Given the description of an element on the screen output the (x, y) to click on. 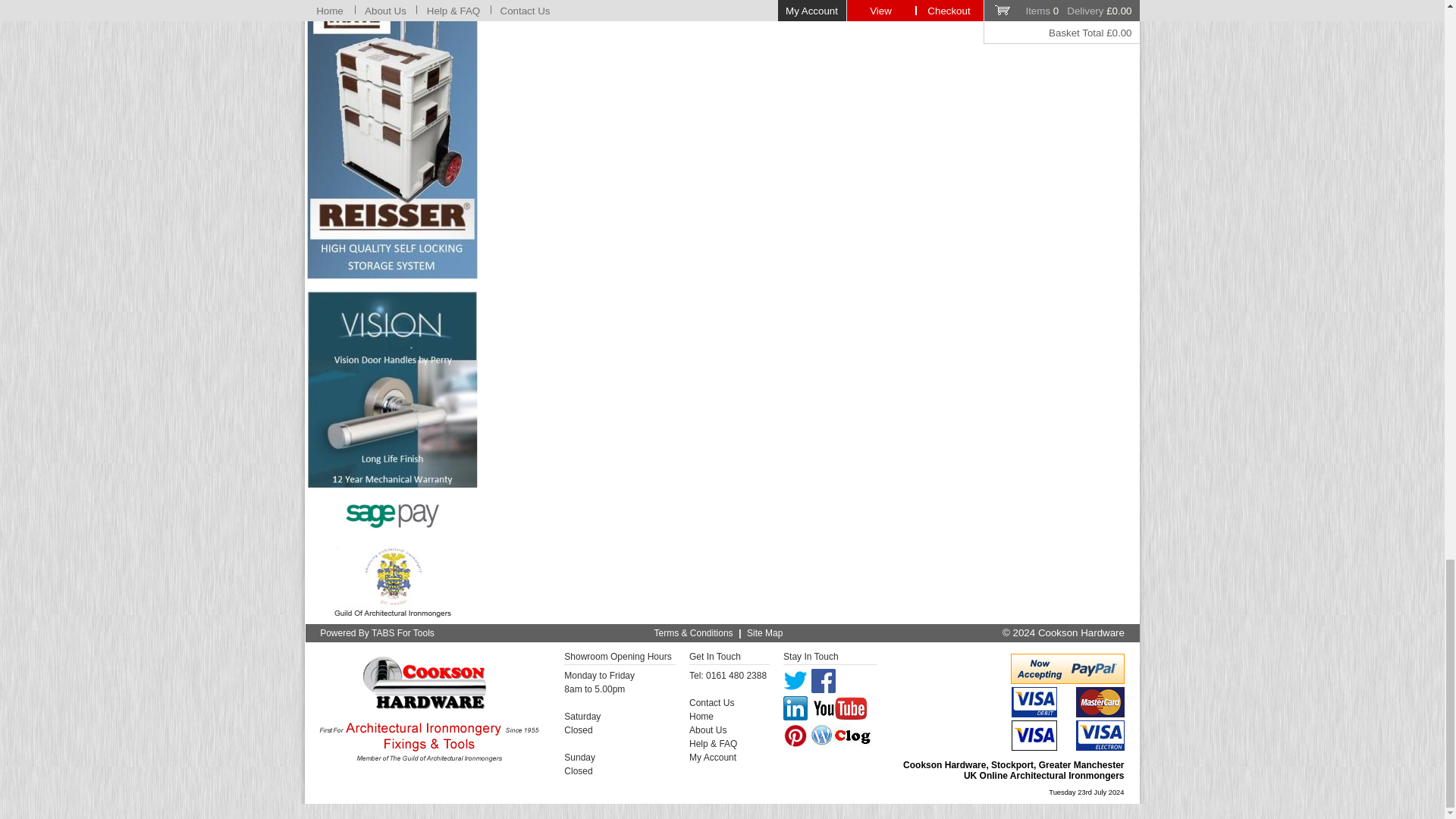
Sagepay (392, 515)
